Given the description of an element on the screen output the (x, y) to click on. 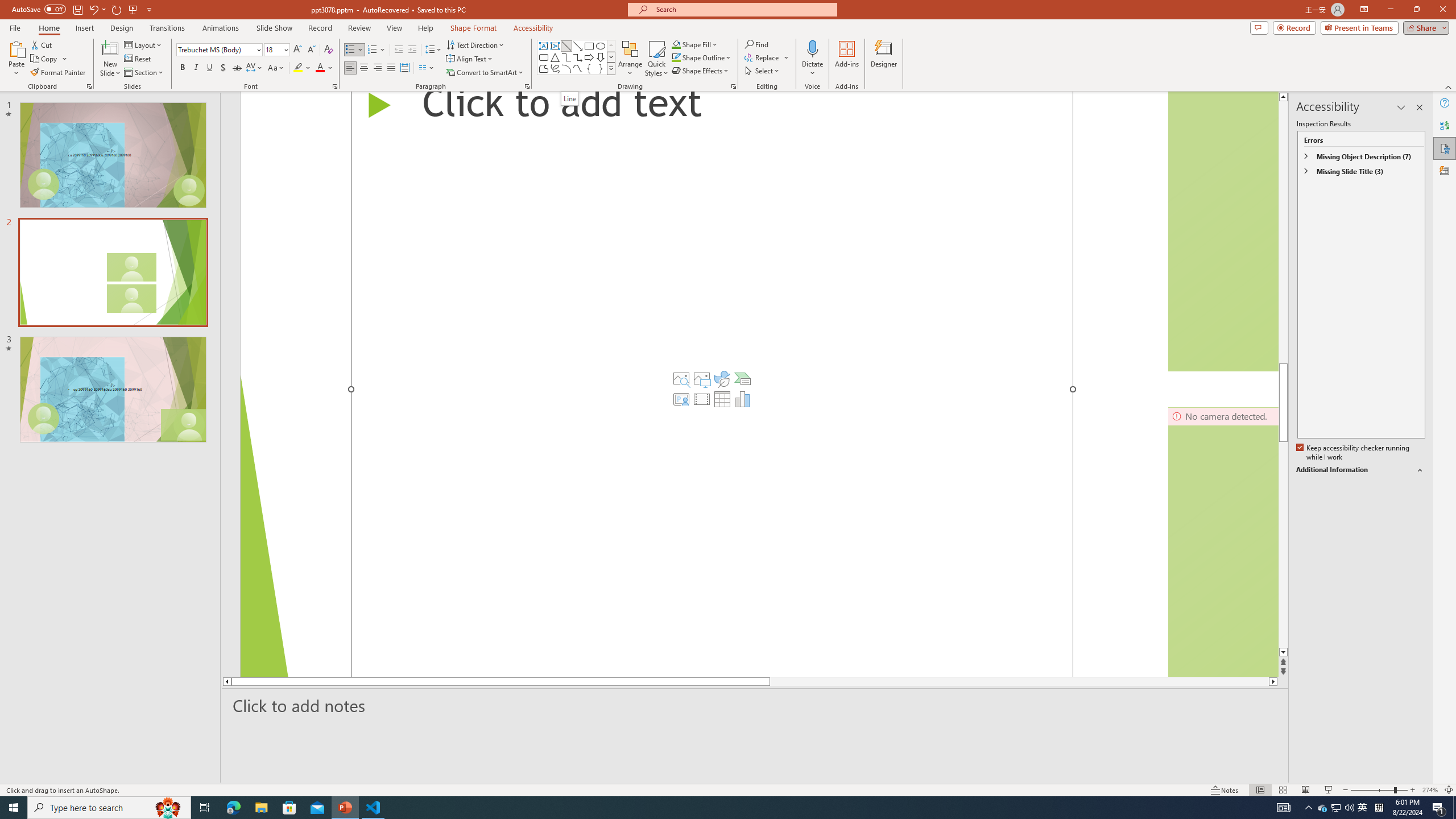
Freeform: Shape (543, 68)
Class: NetUIImage (610, 68)
Pictures (701, 378)
Dictate (812, 58)
Paste (16, 58)
Line Arrow (577, 45)
Insert a SmartArt Graphic (742, 378)
Row up (611, 45)
Replace... (767, 56)
Select (762, 69)
Font Size (273, 49)
